Given the description of an element on the screen output the (x, y) to click on. 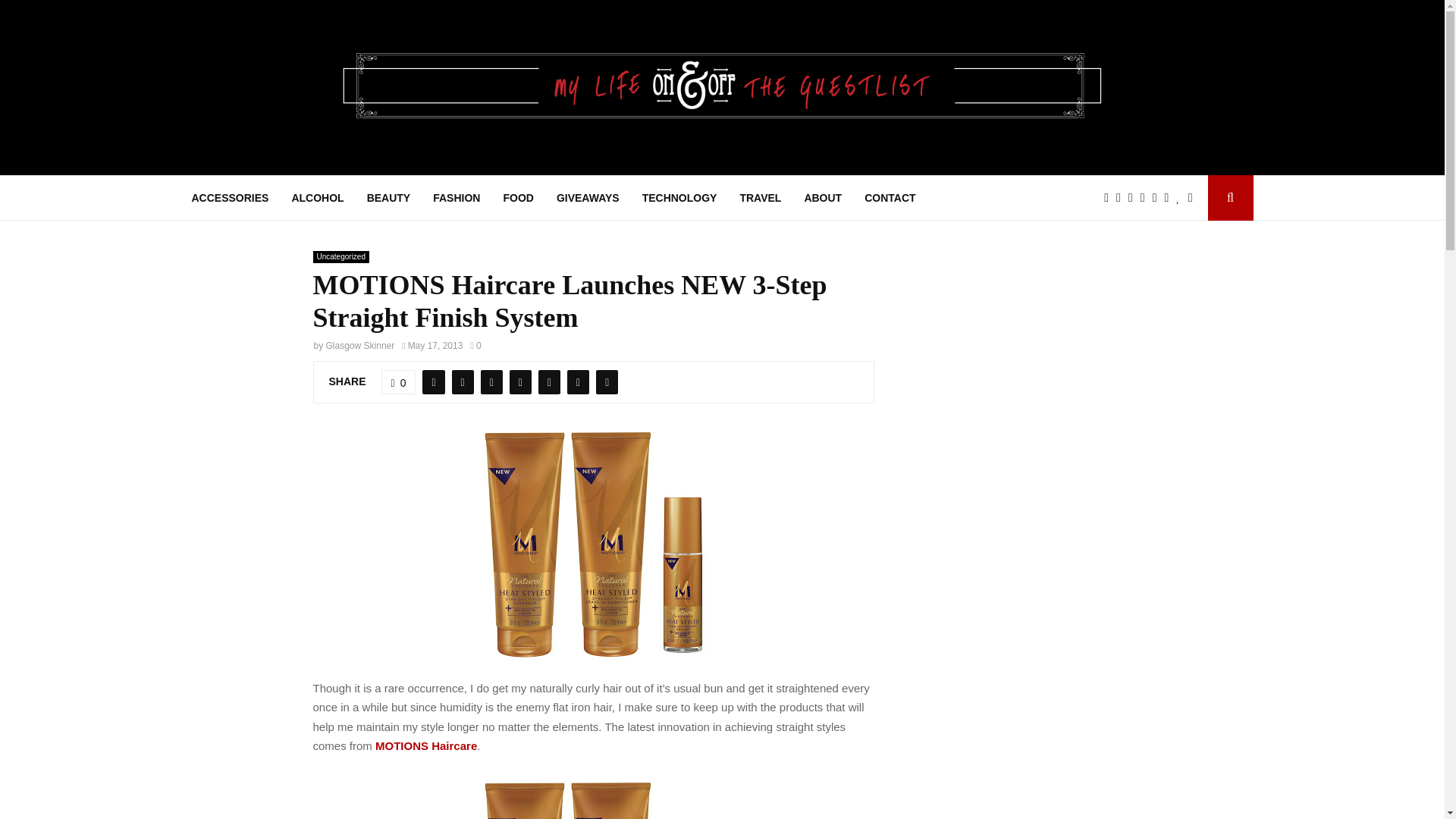
Instagram (1134, 198)
ACCESSORIES (228, 197)
0 (398, 381)
Glasgow Skinner (360, 345)
Facebook (1109, 198)
Twitter (1122, 198)
BEAUTY (388, 197)
FOOD (517, 197)
Linkedin (1158, 198)
CONTACT (889, 197)
Pinterest (1146, 198)
GIVEAWAYS (588, 197)
FASHION (456, 197)
TECHNOLOGY (679, 197)
ALCOHOL (317, 197)
